Given the description of an element on the screen output the (x, y) to click on. 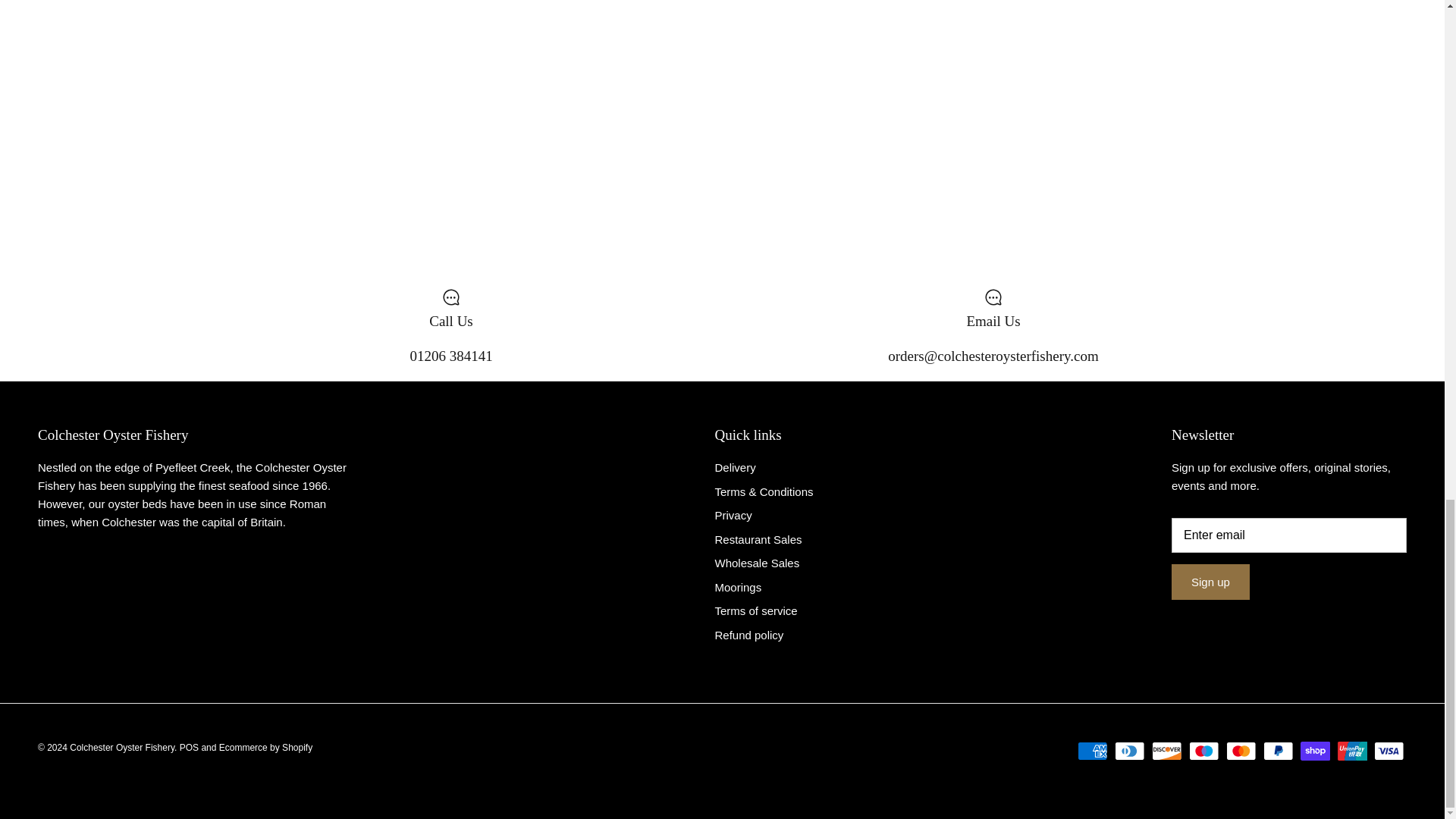
Shop Pay (1315, 751)
Discover (1166, 751)
Visa (1388, 751)
Mastercard (1240, 751)
PayPal (1277, 751)
Union Pay (1352, 751)
American Express (1092, 751)
Diners Club (1129, 751)
Maestro (1203, 751)
